Given the description of an element on the screen output the (x, y) to click on. 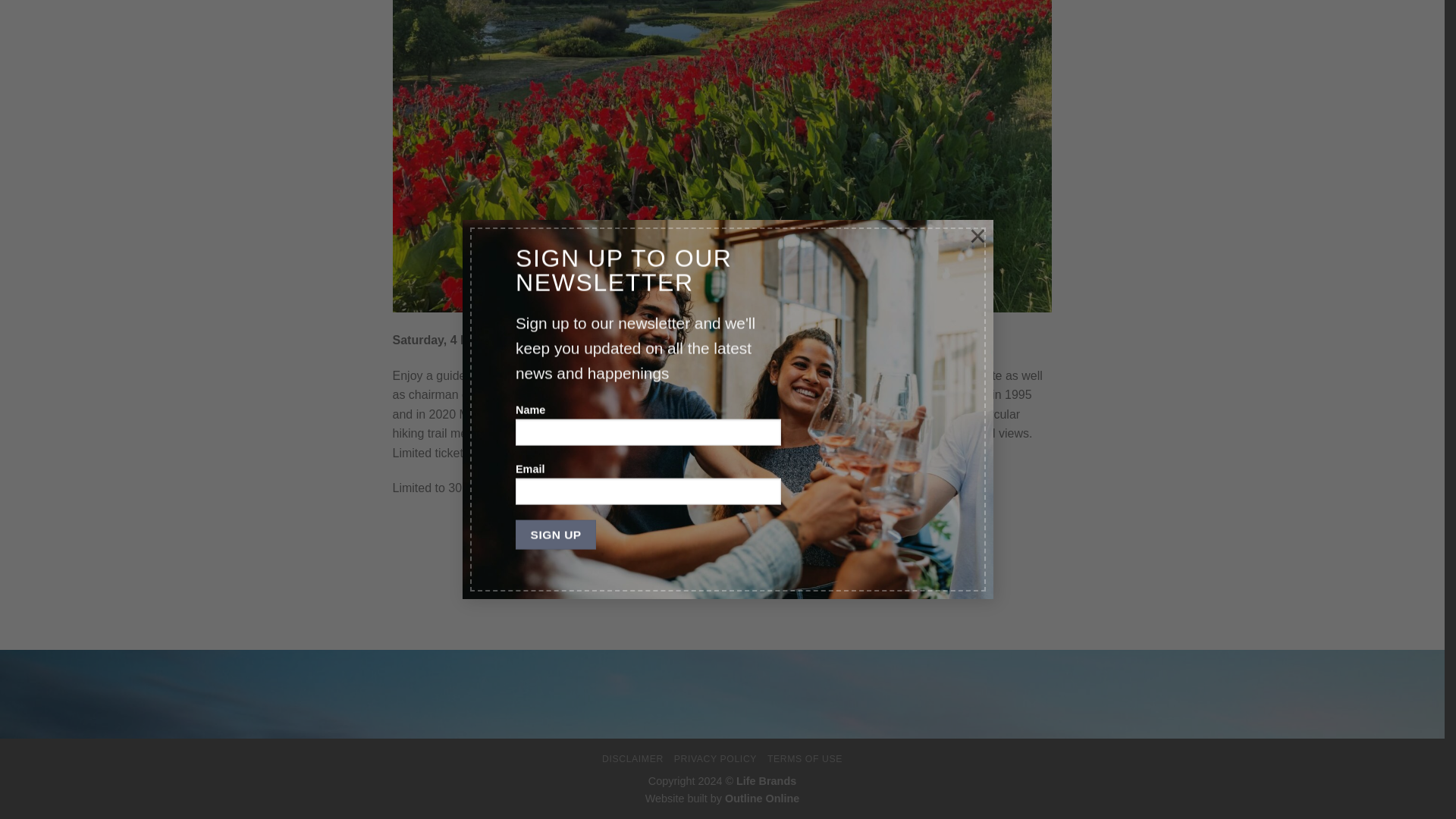
Sign up (555, 134)
Sign up (555, 134)
